Given the description of an element on the screen output the (x, y) to click on. 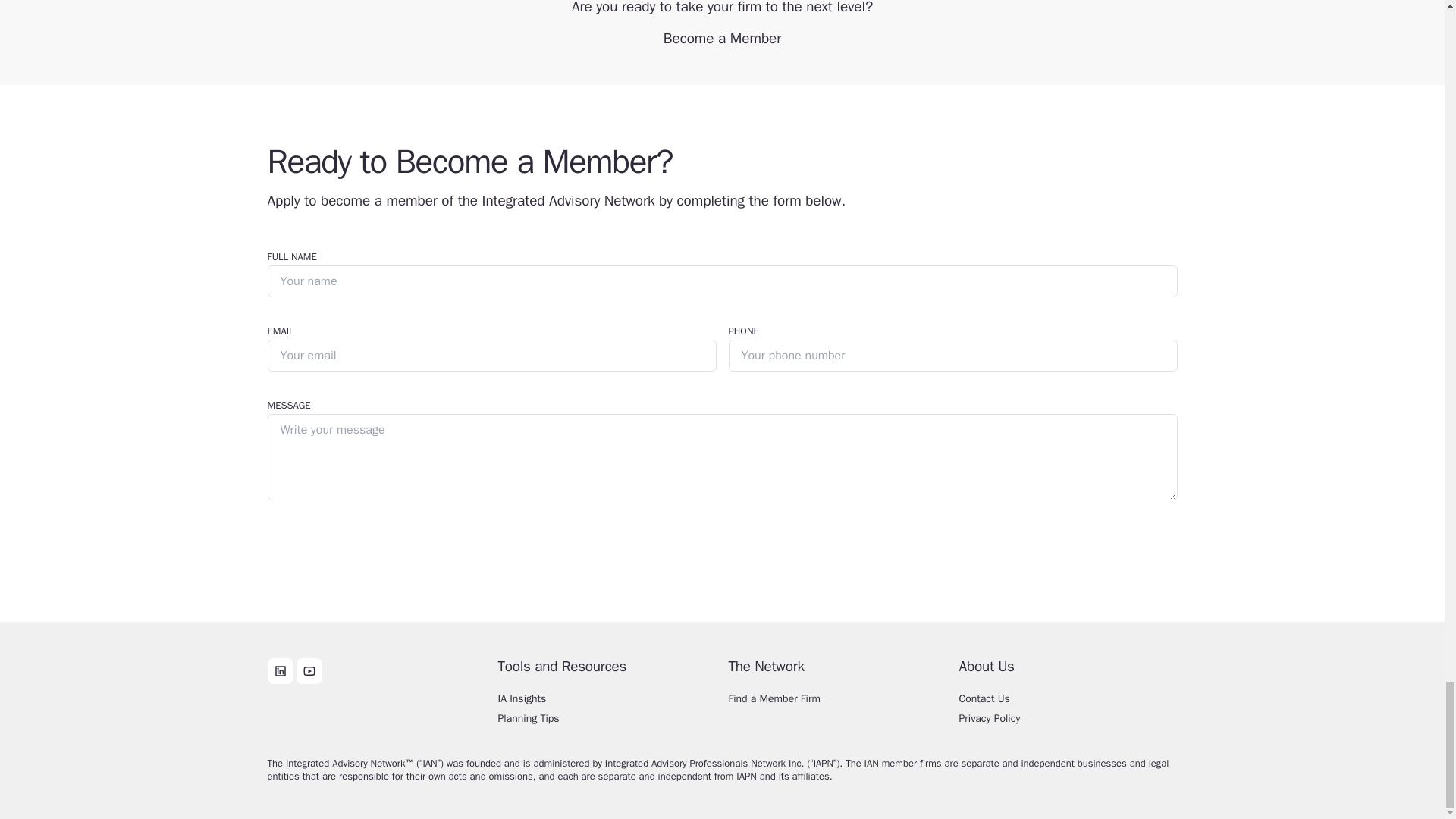
SUBMIT (295, 544)
Find a Member Firm (837, 703)
IA Insights (606, 703)
Become a Member (721, 38)
Contact Us (1067, 703)
Privacy Policy (1067, 723)
Planning Tips (606, 723)
